Given the description of an element on the screen output the (x, y) to click on. 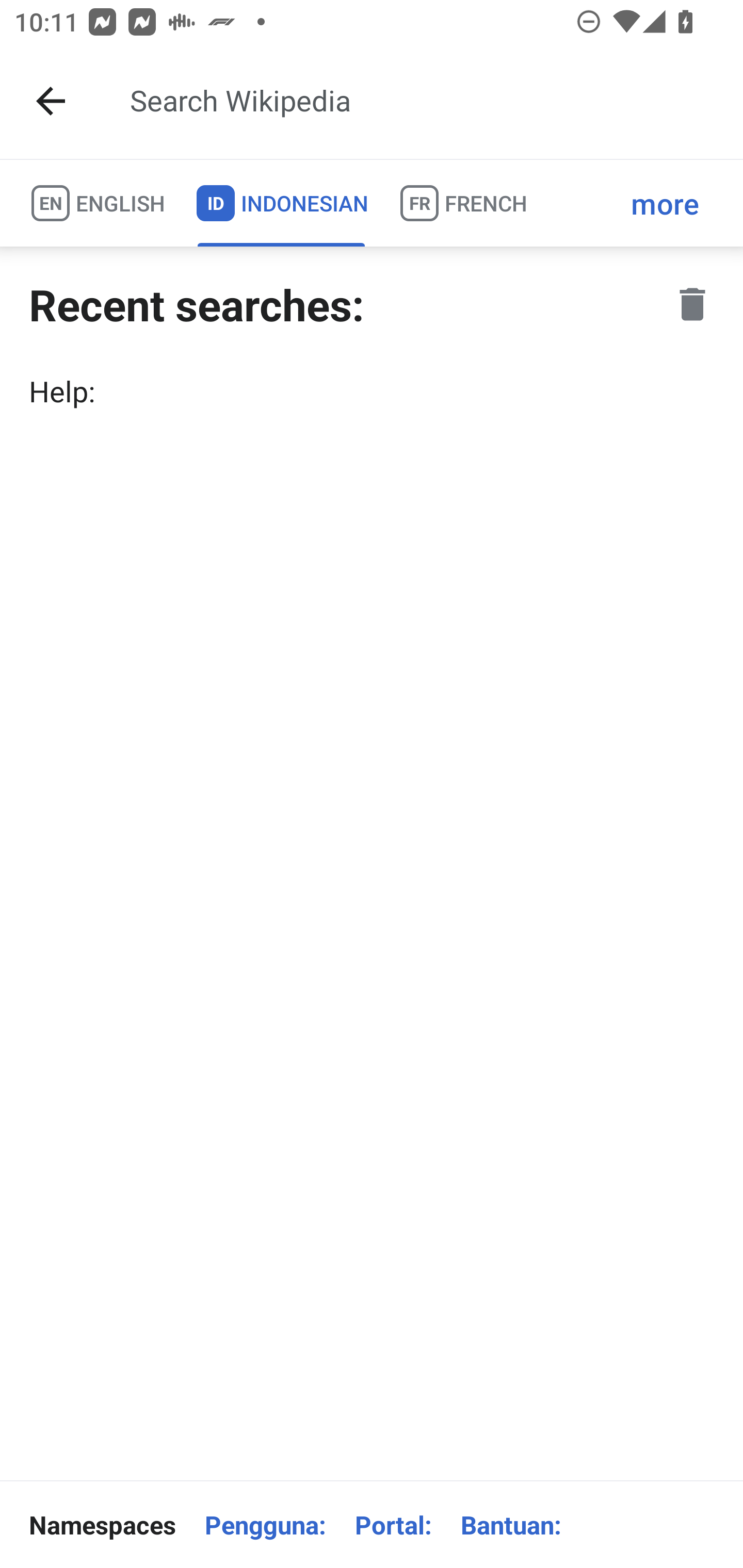
Navigate up (50, 101)
Search Wikipedia (420, 100)
EN ENGLISH (96, 202)
FR FRENCH (462, 202)
more (664, 202)
Clear history (692, 304)
Help: (371, 391)
Namespaces (102, 1524)
Pengguna: (265, 1524)
Portal: (393, 1524)
Bantuan: (510, 1524)
